Given the description of an element on the screen output the (x, y) to click on. 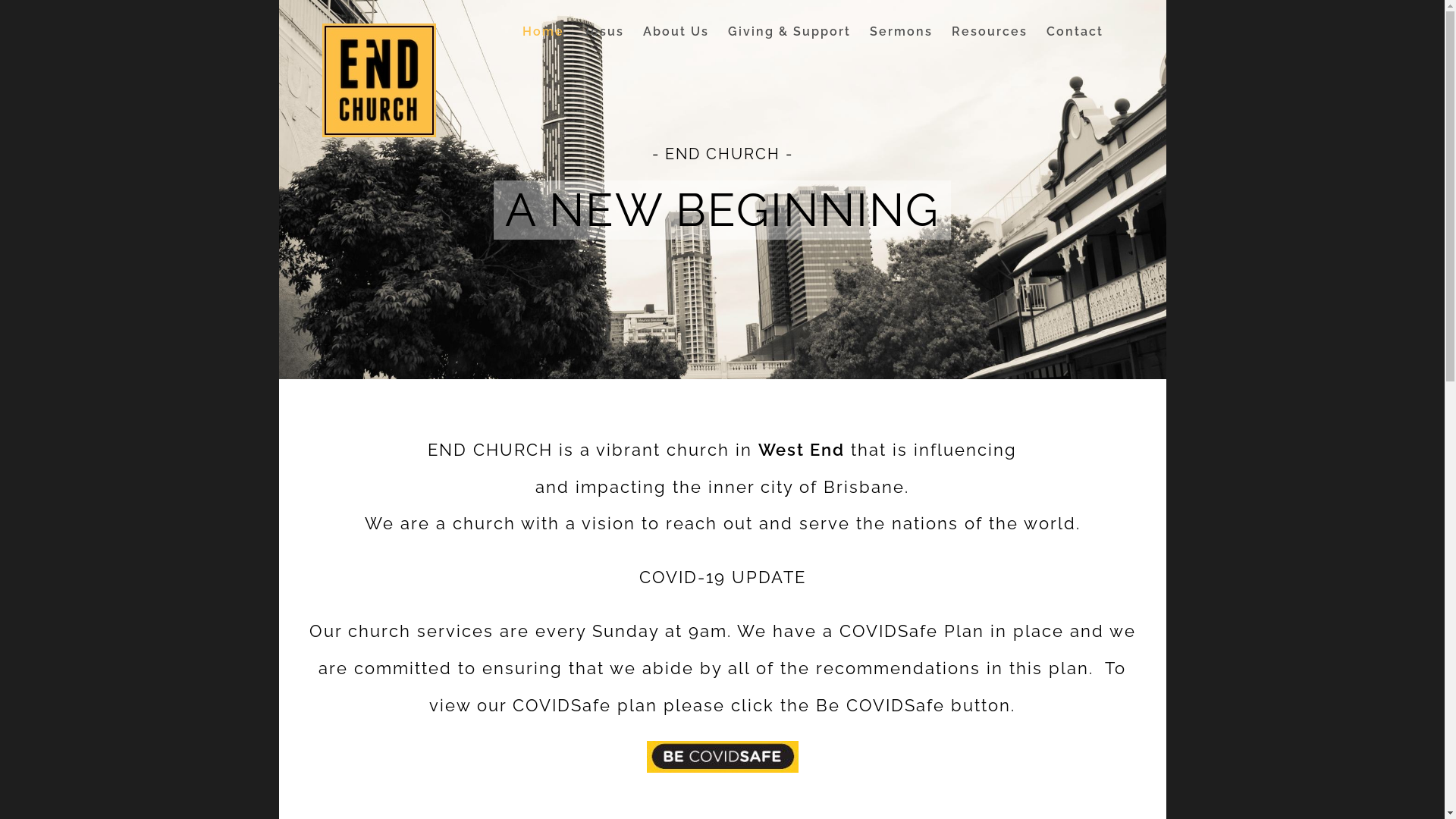
Home Element type: text (543, 31)
Jesus Element type: text (603, 31)
About Us Element type: text (676, 31)
Resources Element type: text (989, 31)
Giving & Support Element type: text (789, 31)
Contact Element type: text (1074, 31)
Sermons Element type: text (900, 31)
